Given the description of an element on the screen output the (x, y) to click on. 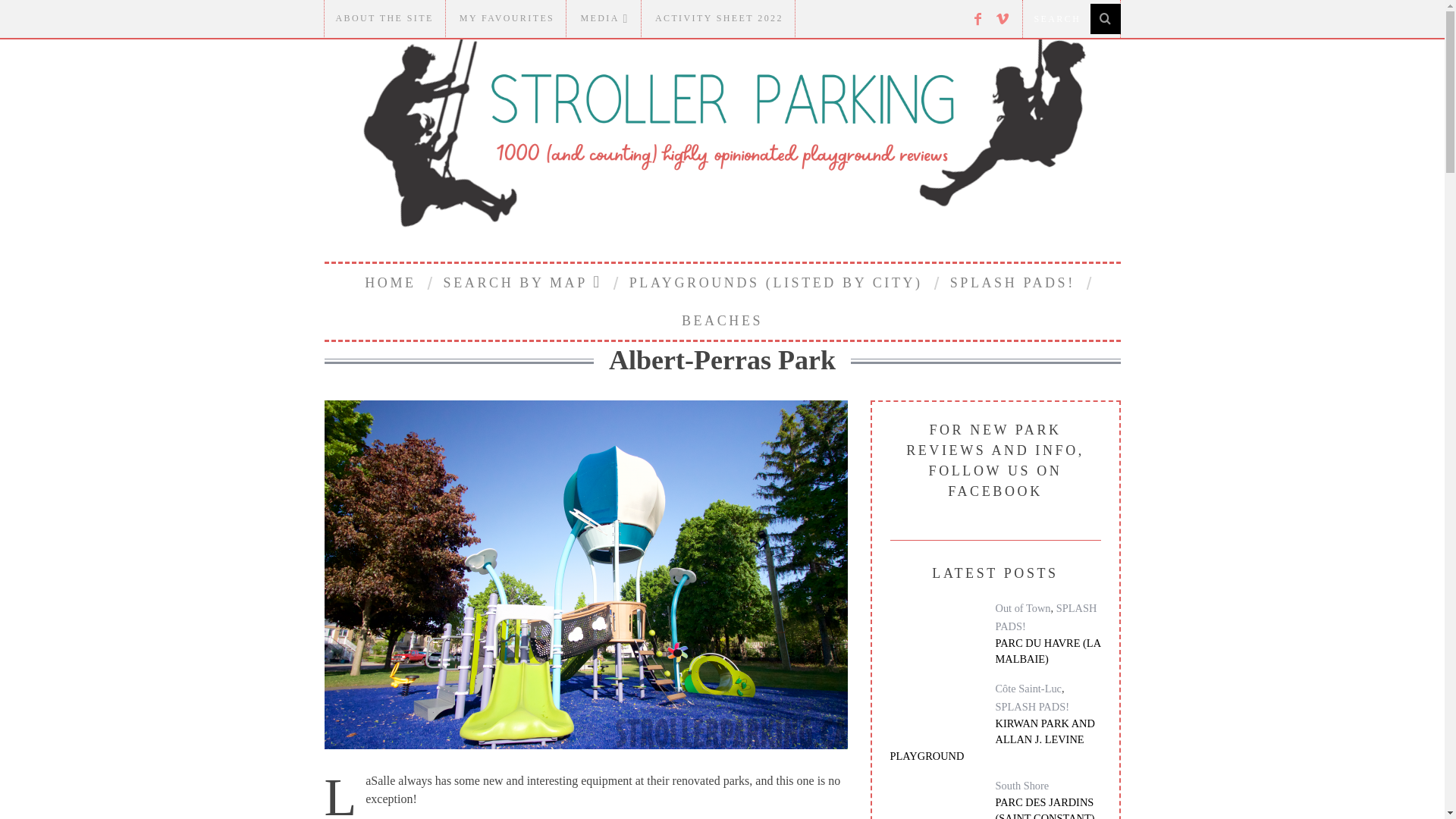
Search (1071, 18)
